Given the description of an element on the screen output the (x, y) to click on. 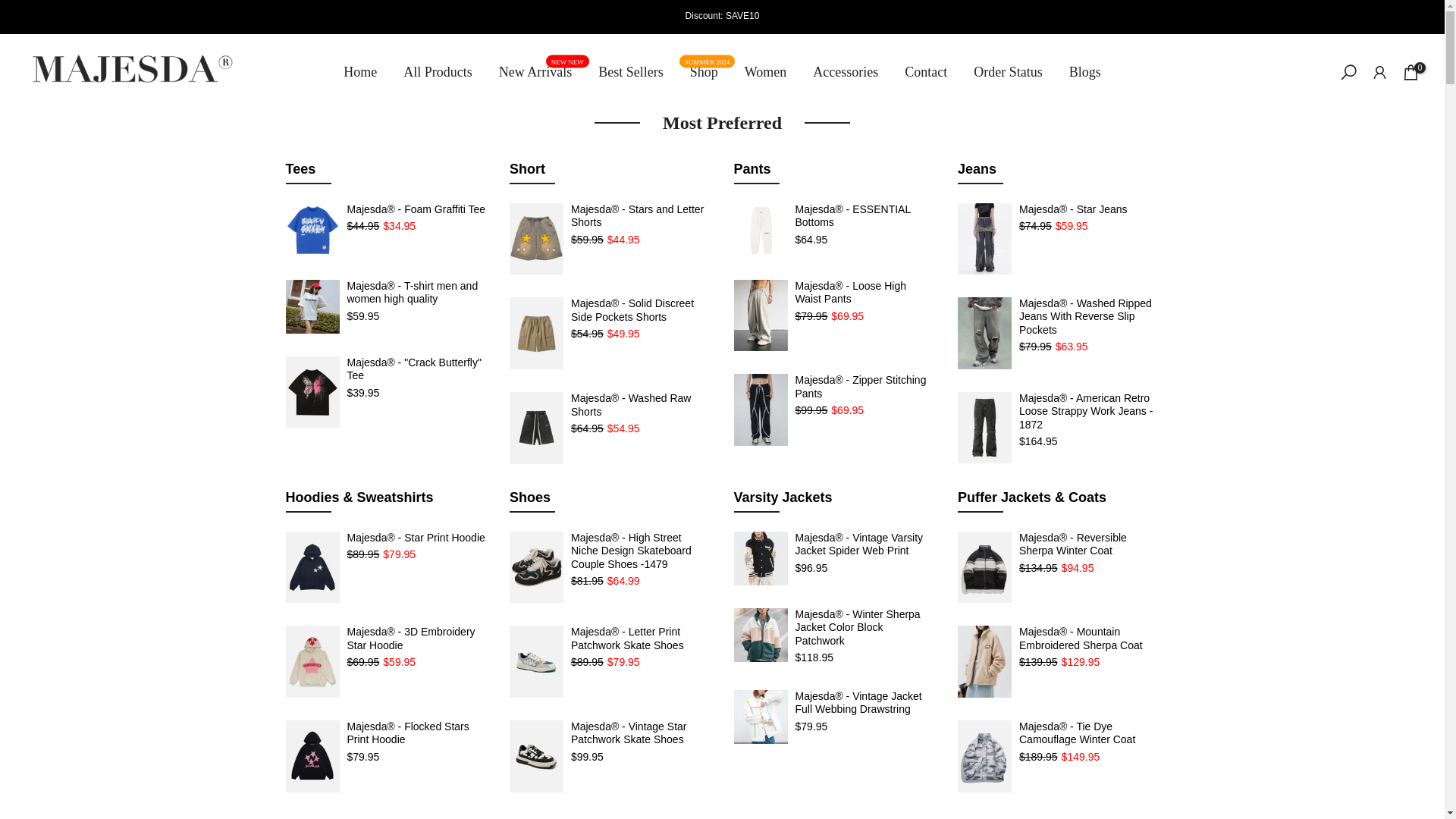
Home (360, 71)
Skip to content (10, 7)
All Products (438, 71)
Women (534, 71)
Best Sellers (764, 71)
